Given the description of an element on the screen output the (x, y) to click on. 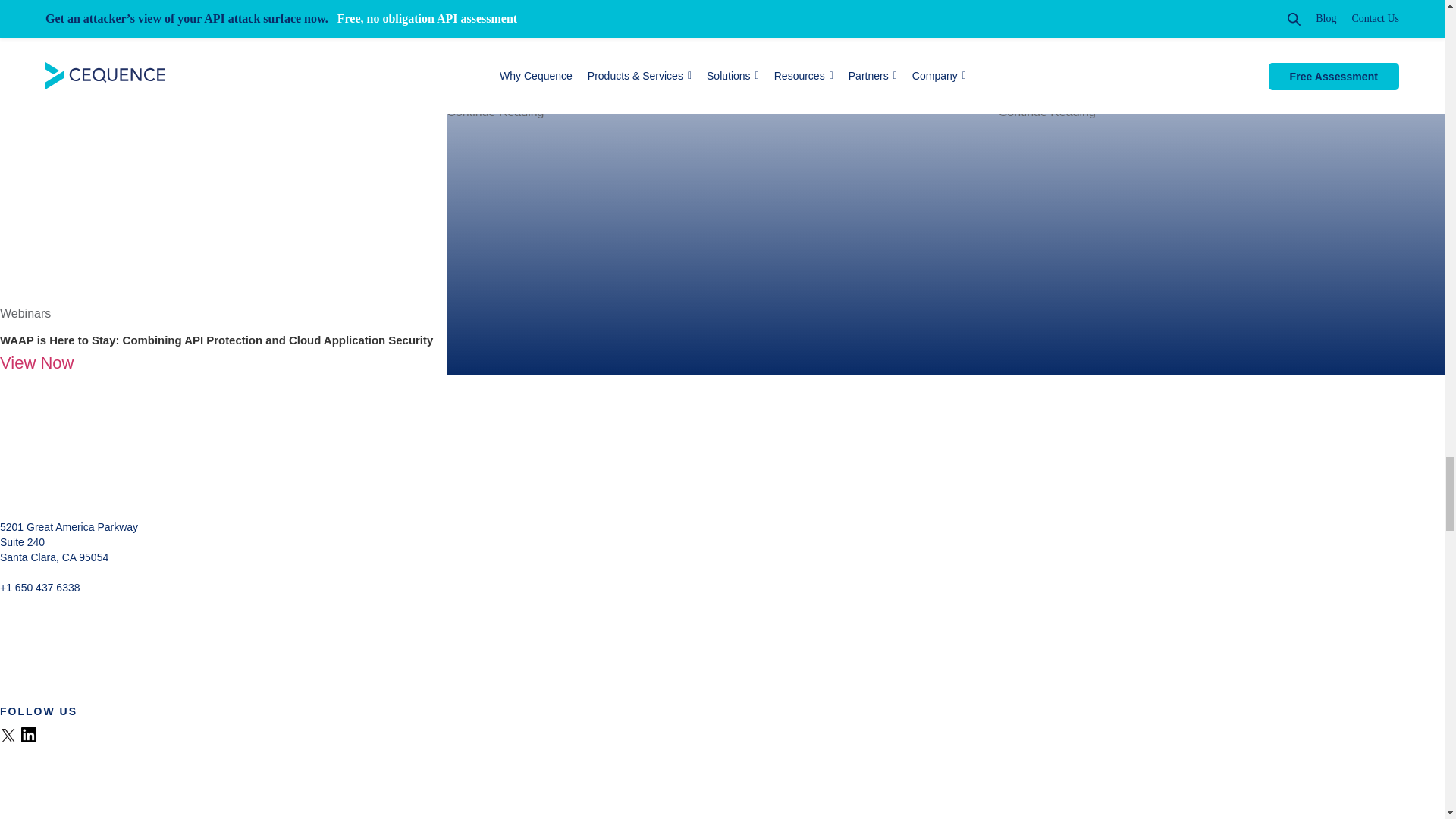
Cequence Security logo (70, 472)
